Given the description of an element on the screen output the (x, y) to click on. 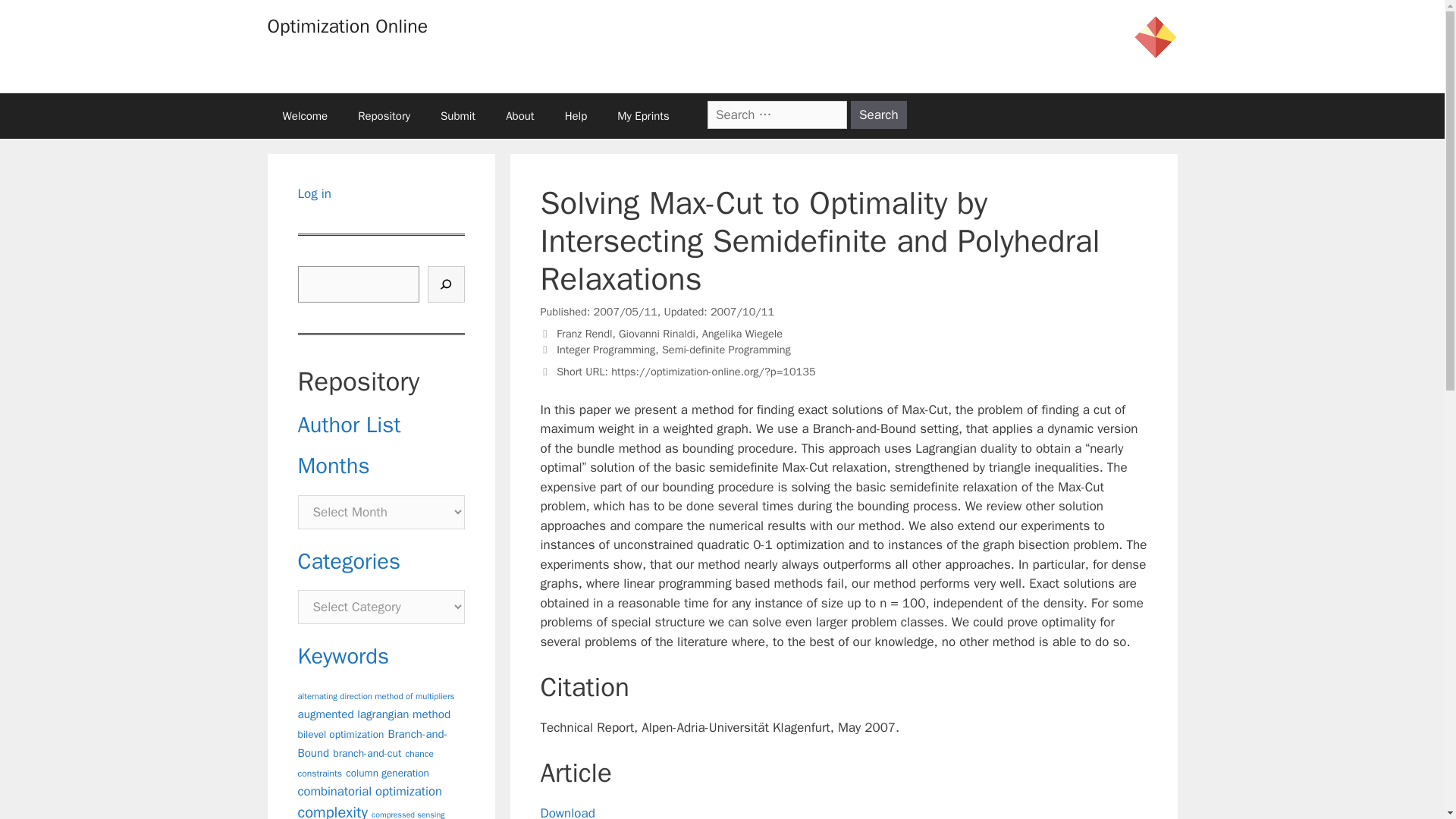
complexity (331, 811)
Log in (314, 192)
Download (567, 812)
Semi-definite Programming (726, 349)
column generation (387, 772)
augmented lagrangian method (373, 713)
Angelika Wiegele (742, 333)
Categories (348, 561)
Author List (348, 424)
Help (576, 115)
